Given the description of an element on the screen output the (x, y) to click on. 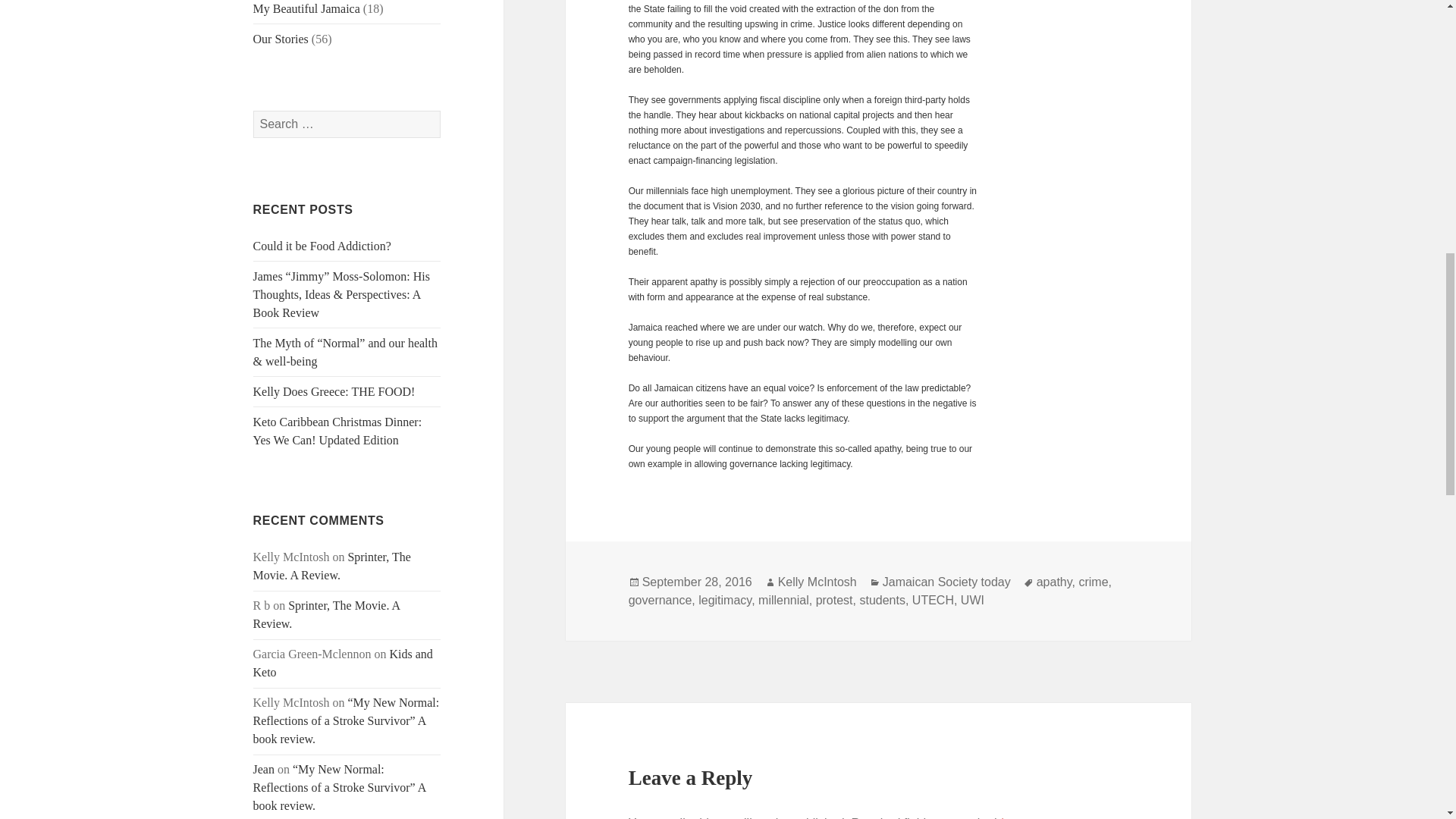
My Beautiful Jamaica (306, 8)
Sprinter, The Movie. A Review. (331, 565)
Kids and Keto (342, 662)
Could it be Food Addiction? (322, 245)
Our Stories (280, 38)
Kelly Does Greece: THE FOOD! (333, 391)
Jean (264, 768)
Sprinter, The Movie. A Review. (326, 613)
Keto Caribbean Christmas Dinner: Yes We Can! Updated Edition (337, 430)
